Given the description of an element on the screen output the (x, y) to click on. 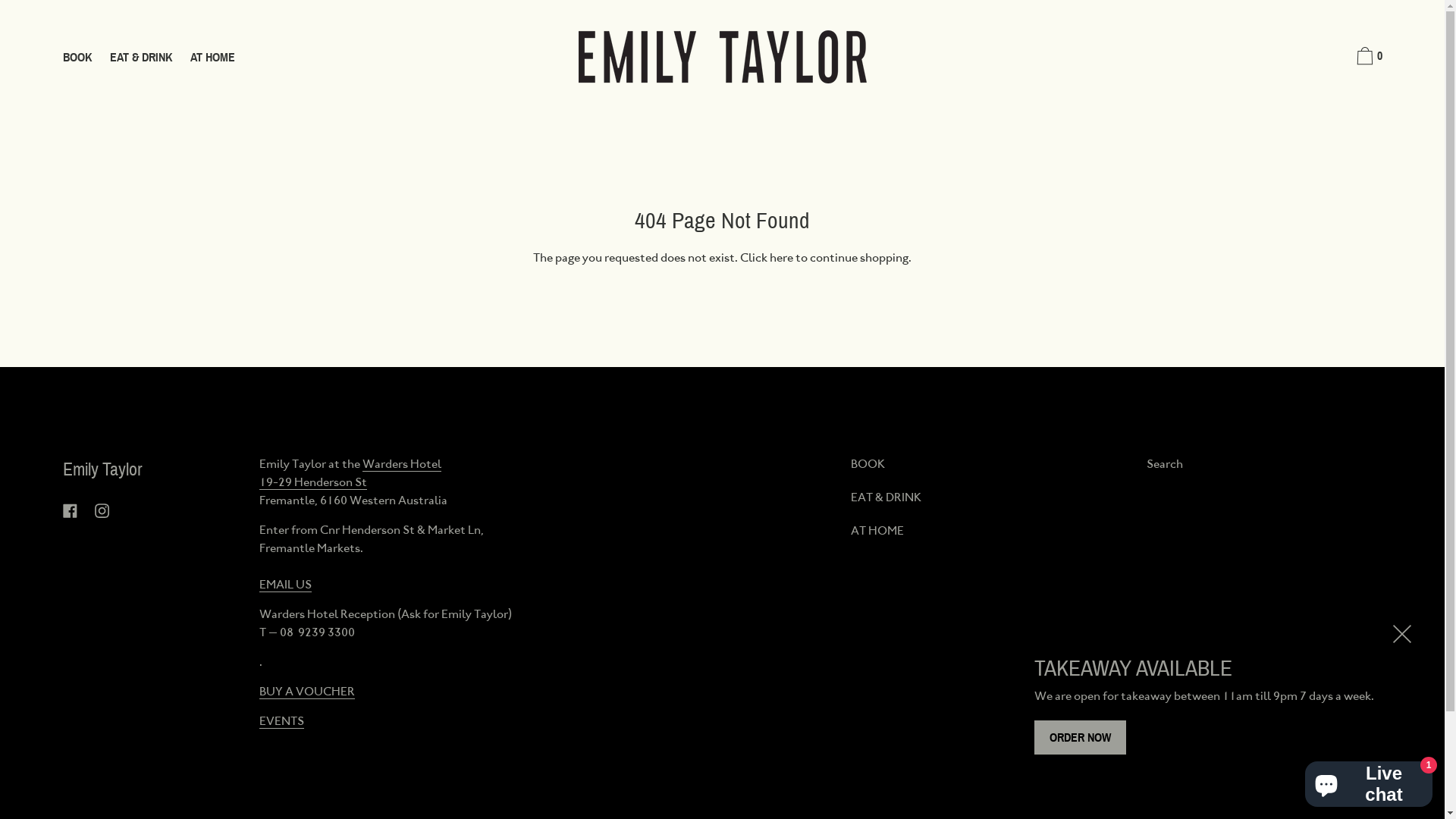
EAT & DRINK Element type: text (885, 497)
19-29 Henderson St Element type: text (313, 481)
0 Element type: text (1367, 58)
BUY A VOUCHER Element type: text (306, 691)
EVENTS Element type: text (281, 720)
ORDER NOW Element type: text (1080, 737)
EAT & DRINK Element type: text (139, 58)
Instagram Element type: text (101, 510)
here Element type: text (781, 257)
Facebook Element type: text (69, 510)
AT HOME Element type: text (211, 58)
BOOK Element type: text (867, 463)
EMAIL US Element type: text (285, 584)
Search Element type: text (1164, 463)
BOOK Element type: text (76, 58)
Warders Hotel Element type: text (401, 463)
AT HOME Element type: text (877, 530)
Shopify online store chat Element type: hover (1368, 780)
Emily Taylor Element type: text (101, 469)
